Given the description of an element on the screen output the (x, y) to click on. 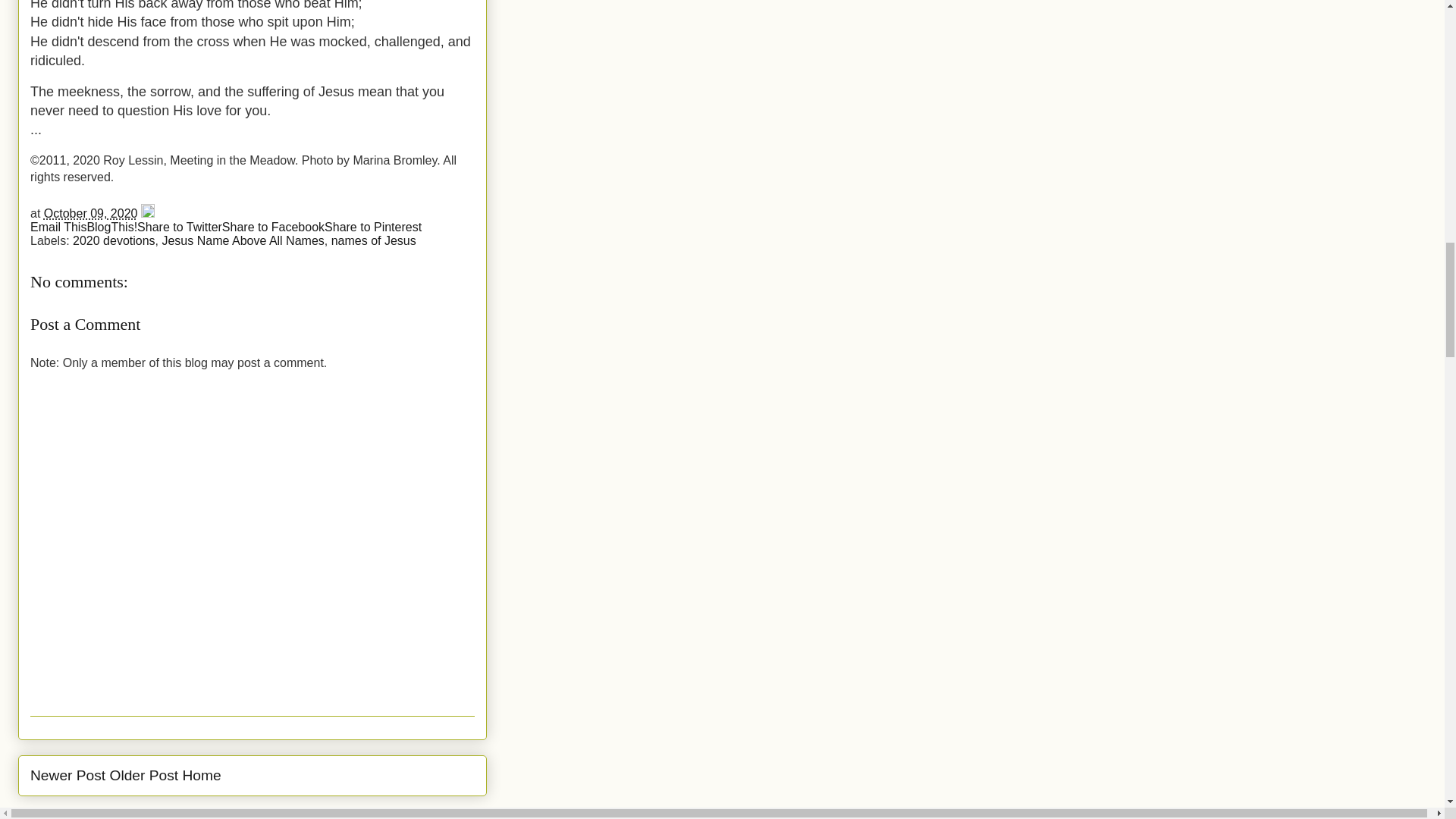
2020 devotions (113, 240)
Share to Facebook (273, 226)
BlogThis! (110, 226)
Home (202, 774)
October 09, 2020 (90, 213)
Older Post (144, 774)
permanent link (90, 213)
Older Post (144, 774)
Newer Post (67, 774)
BlogThis! (110, 226)
Edit Post (147, 213)
Email This (57, 226)
Email This (57, 226)
Jesus Name Above All Names (242, 240)
names of Jesus (373, 240)
